Given the description of an element on the screen output the (x, y) to click on. 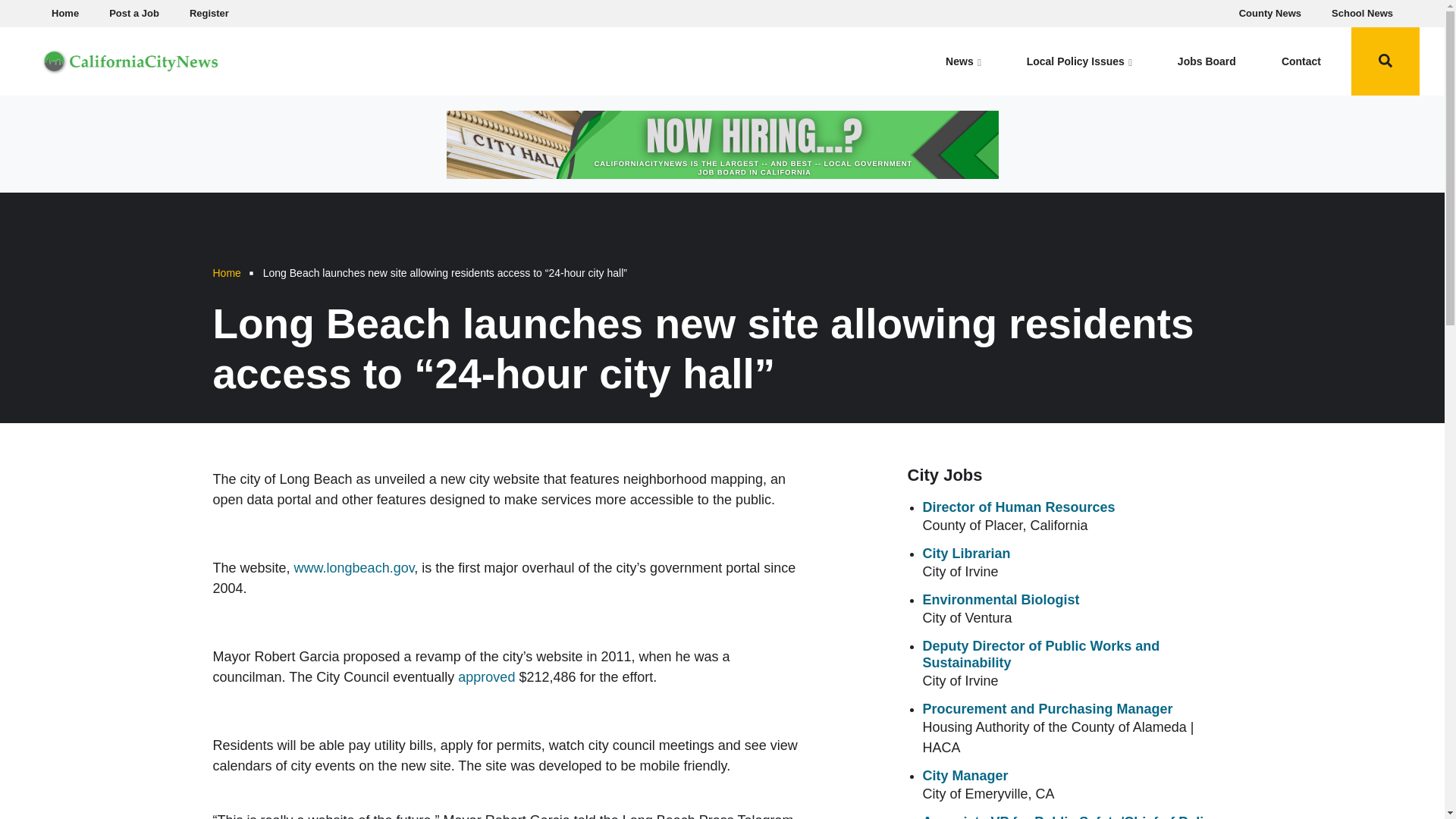
Home (130, 59)
Register (208, 13)
Home (226, 272)
approved (486, 676)
Post a Job (134, 13)
www.longbeach.gov (354, 567)
School News (1361, 13)
County News (1269, 13)
Home (64, 13)
